Given the description of an element on the screen output the (x, y) to click on. 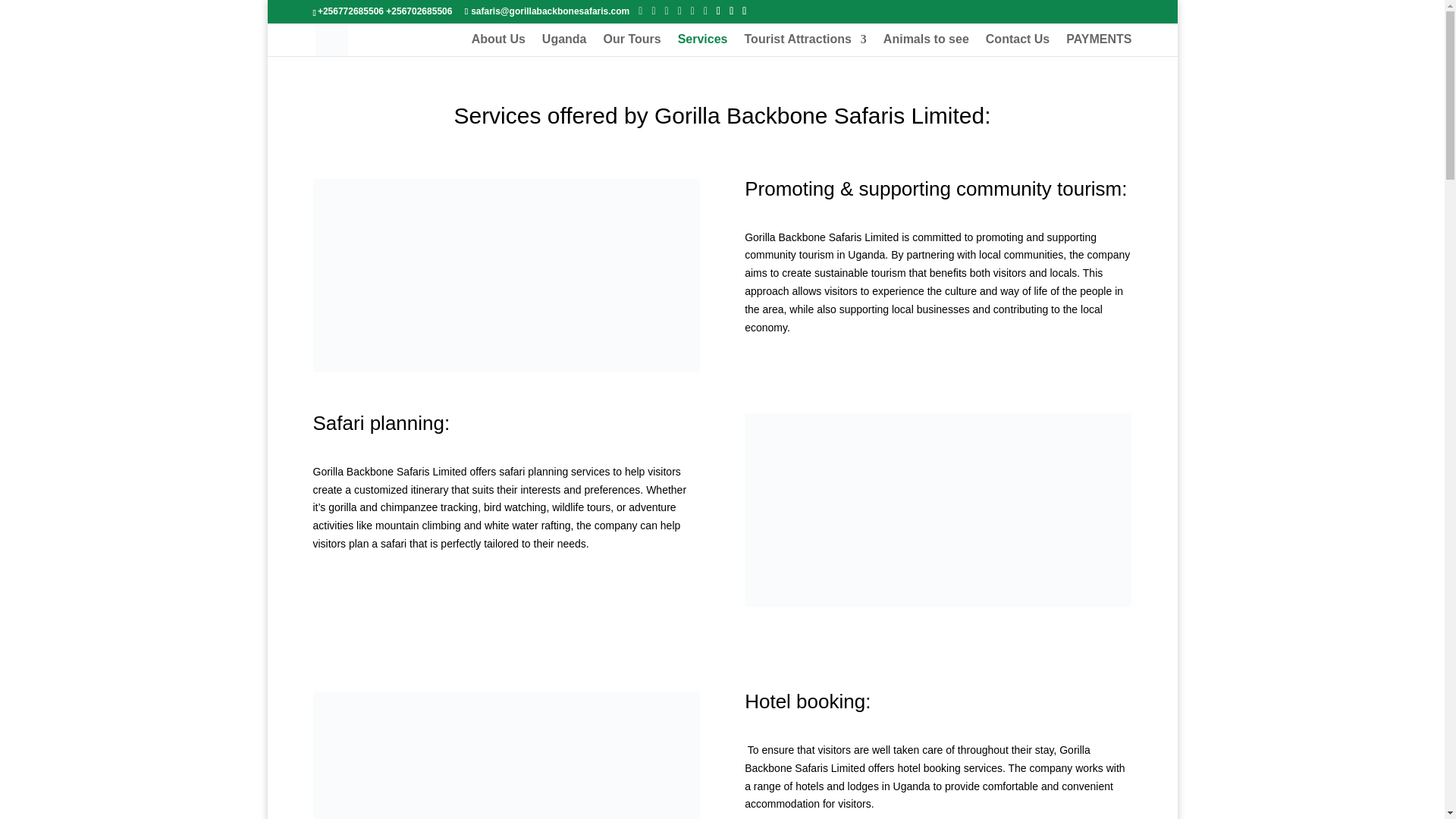
Animals to see (926, 45)
PAYMENTS (1098, 45)
Uganda (563, 45)
Hotel booking (505, 755)
About Us (498, 45)
Our Tours (632, 45)
Safari planning (937, 509)
Services (703, 45)
Tourist Attractions (805, 45)
Contact Us (1017, 45)
